Given the description of an element on the screen output the (x, y) to click on. 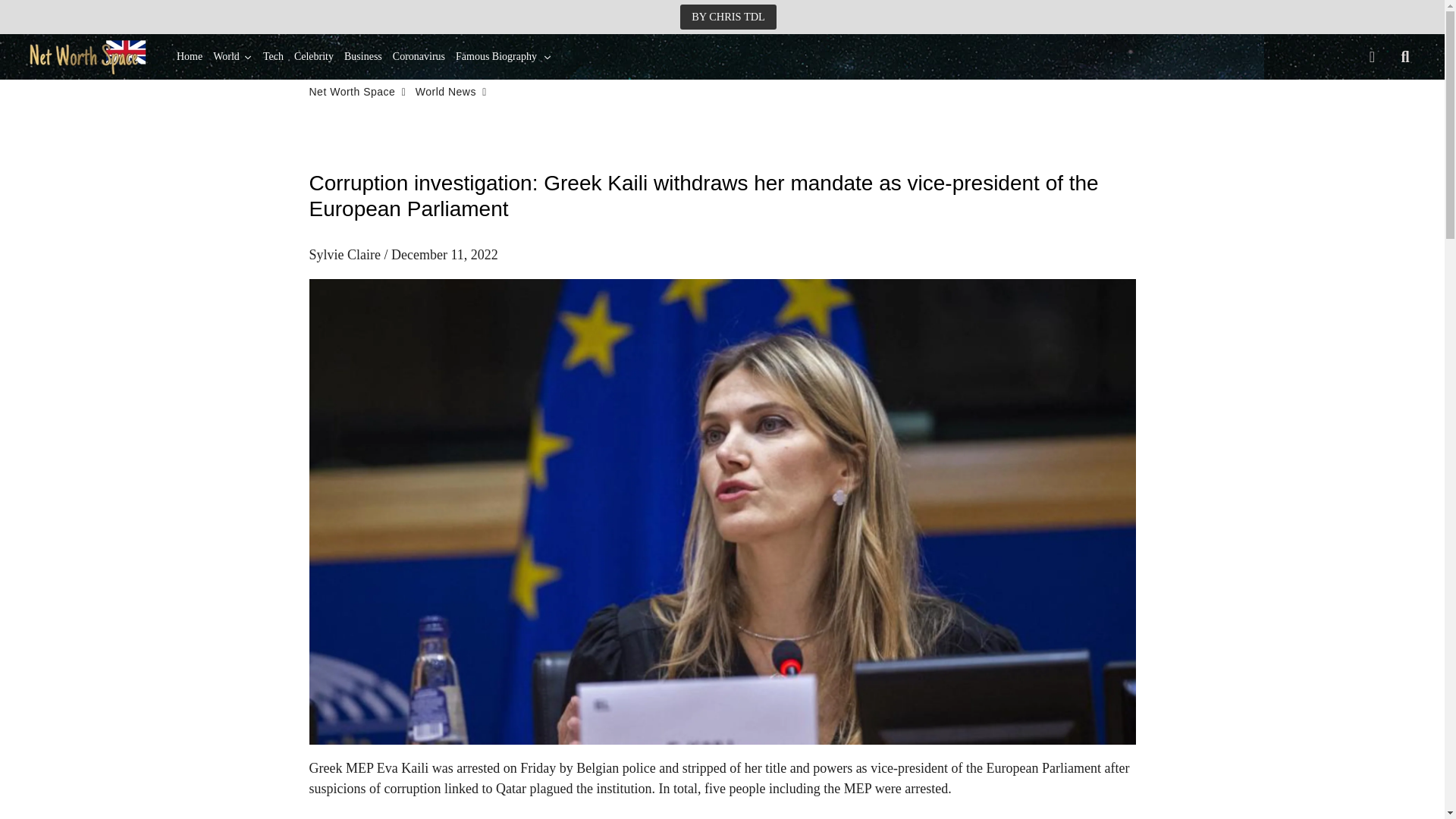
Net Worth Space (352, 91)
Celebrity (313, 56)
World (232, 56)
Celebrity (313, 56)
Coronavirus (418, 56)
Business (363, 56)
Tech (272, 56)
Famous Biography (503, 56)
Business (363, 56)
Search (1405, 56)
